Given the description of an element on the screen output the (x, y) to click on. 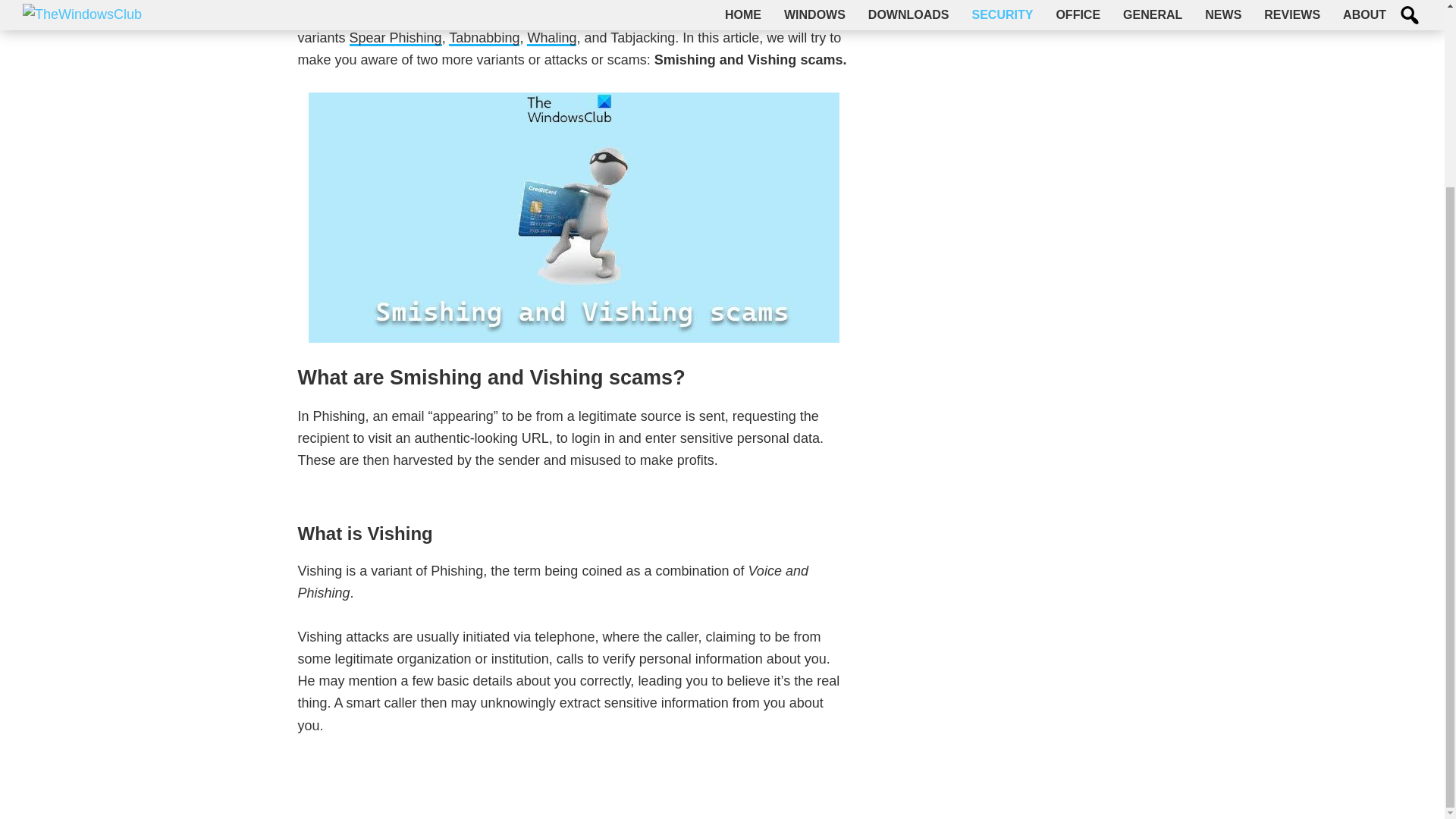
Spear Phishing (395, 37)
Tabnabbing (483, 37)
What is Tabnabbing (483, 37)
What is Phishing (688, 15)
Phishing (688, 15)
Whaling (551, 37)
